Given the description of an element on the screen output the (x, y) to click on. 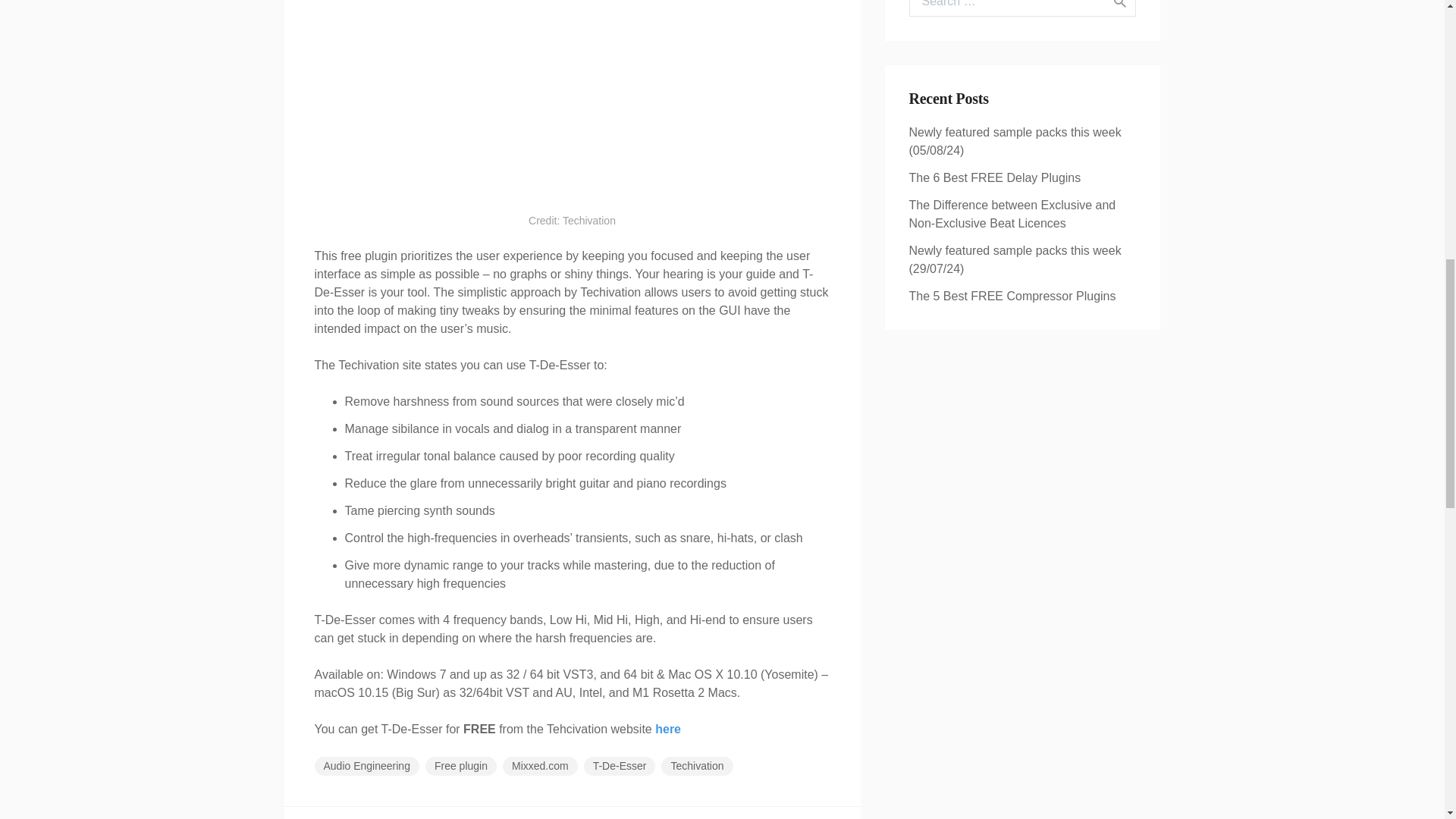
Mixxed.com (540, 766)
here (668, 727)
Techivation (696, 766)
Audio Engineering (366, 766)
T-De-Esser (619, 766)
Free plugin (460, 766)
